Given the description of an element on the screen output the (x, y) to click on. 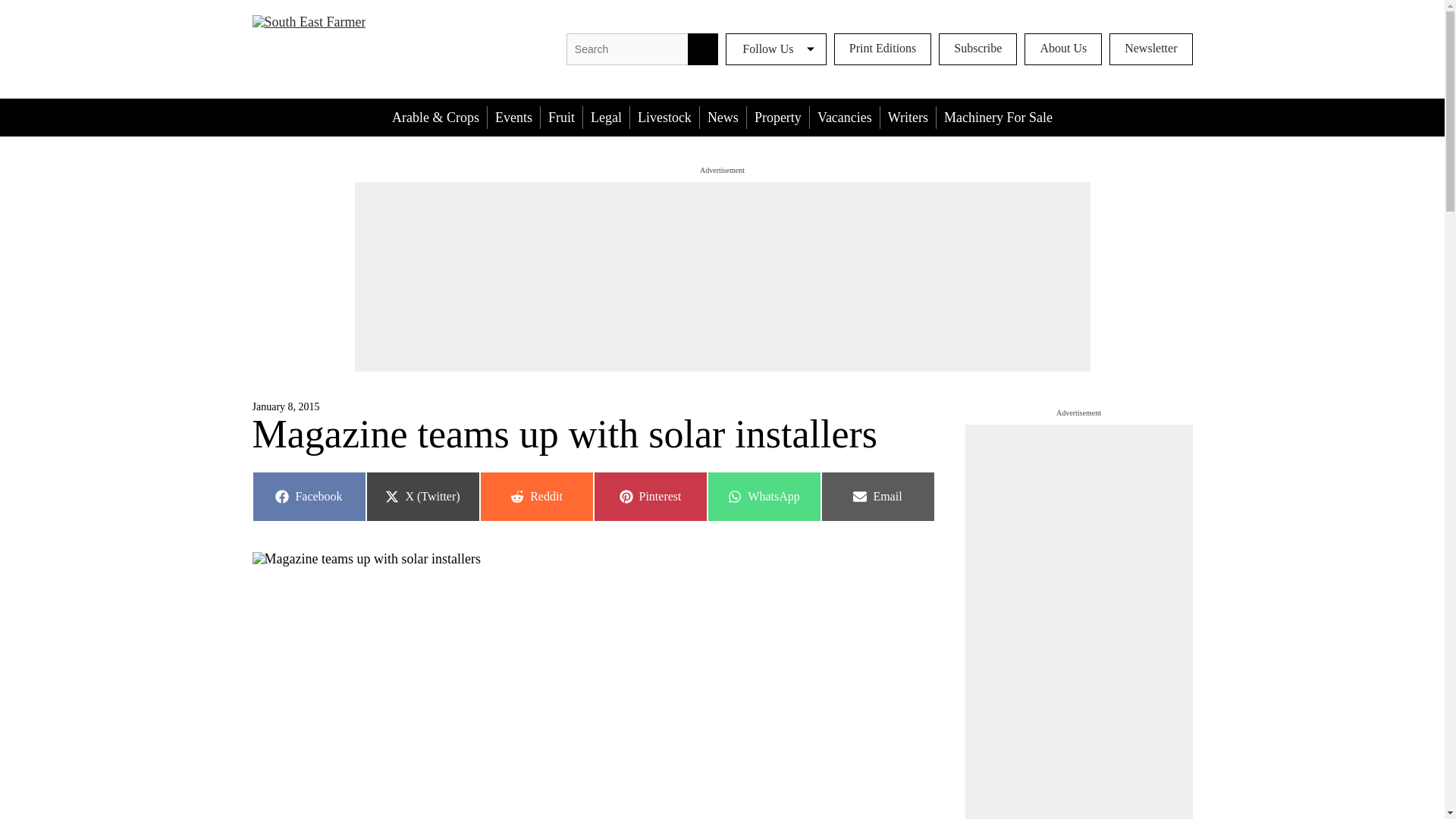
Search (702, 49)
Subscribe (977, 49)
Property (777, 117)
Fruit (561, 117)
News (649, 496)
Follow Us (308, 496)
Print Editions (722, 117)
Vacancies (776, 49)
Legal (882, 49)
Events (844, 117)
About Us (605, 117)
Livestock (535, 496)
